Given the description of an element on the screen output the (x, y) to click on. 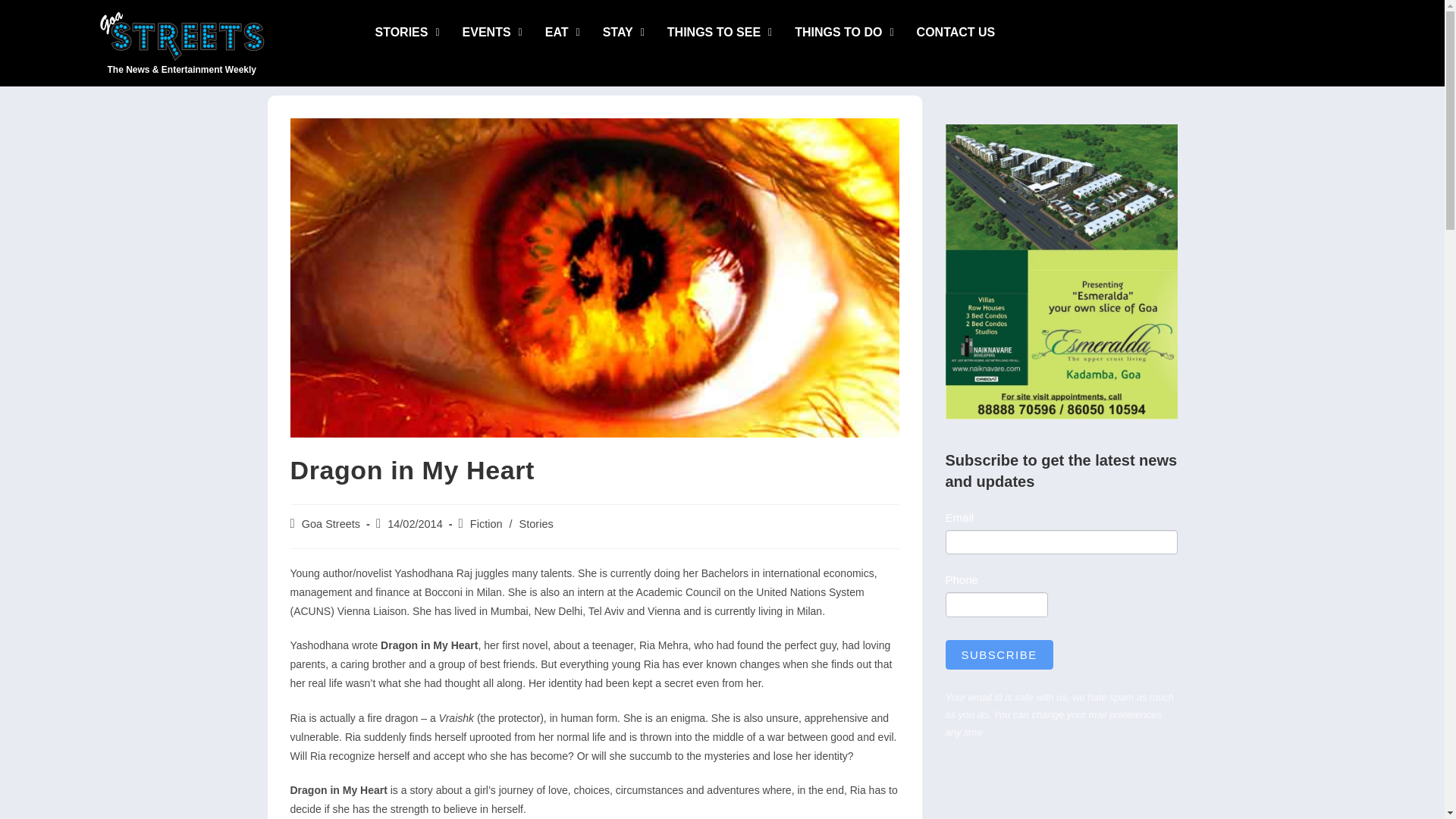
STORIES (407, 32)
Posts by Goa Streets (330, 523)
EVENTS (492, 32)
EAT (562, 32)
STAY (623, 32)
